Given the description of an element on the screen output the (x, y) to click on. 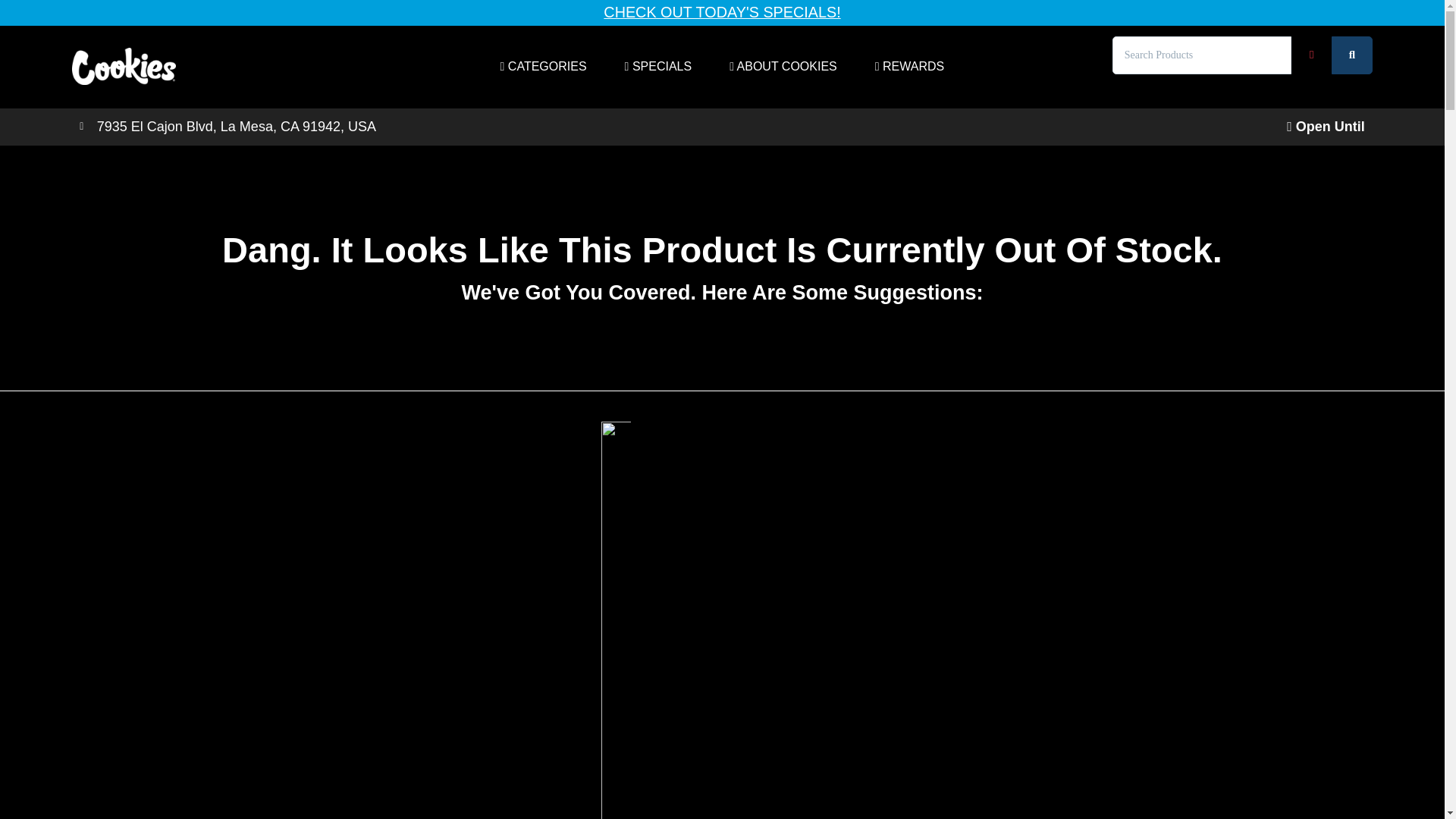
7935 El Cajon Blvd, La Mesa, CA 91942, USA (397, 127)
CHECK OUT TODAY'S SPECIALS! (722, 12)
Clear product search keywords (1311, 55)
Open Until (1328, 126)
Search products with matching keywords (1352, 55)
